Given the description of an element on the screen output the (x, y) to click on. 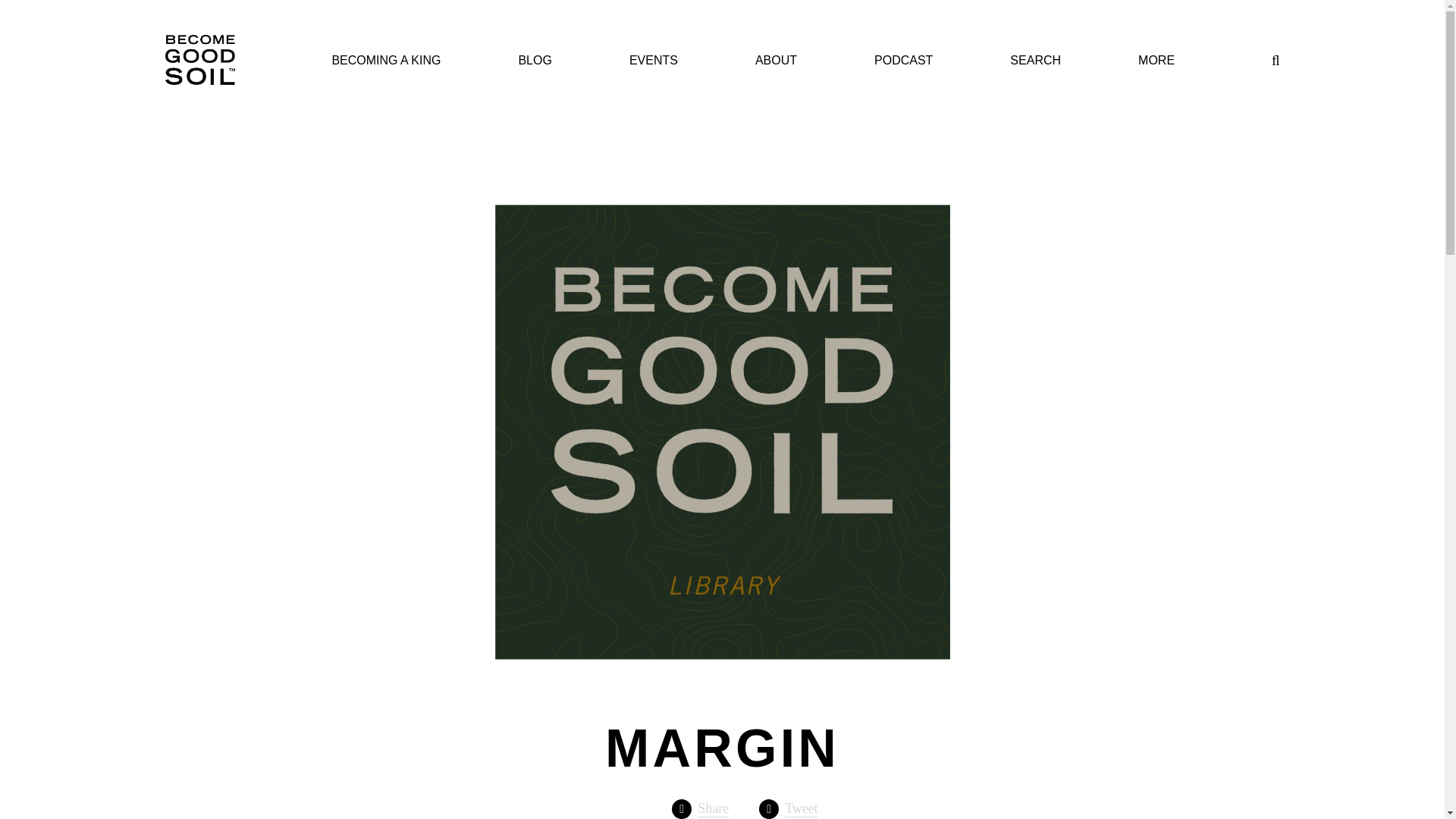
Share on Twitter (788, 809)
Tweet (788, 809)
BLOG (534, 60)
SEARCH (1035, 60)
EVENTS (653, 60)
Share on Facebook (700, 809)
MORE (1156, 60)
PODCAST (904, 60)
Share (700, 809)
Become Good Soil (199, 60)
